Given the description of an element on the screen output the (x, y) to click on. 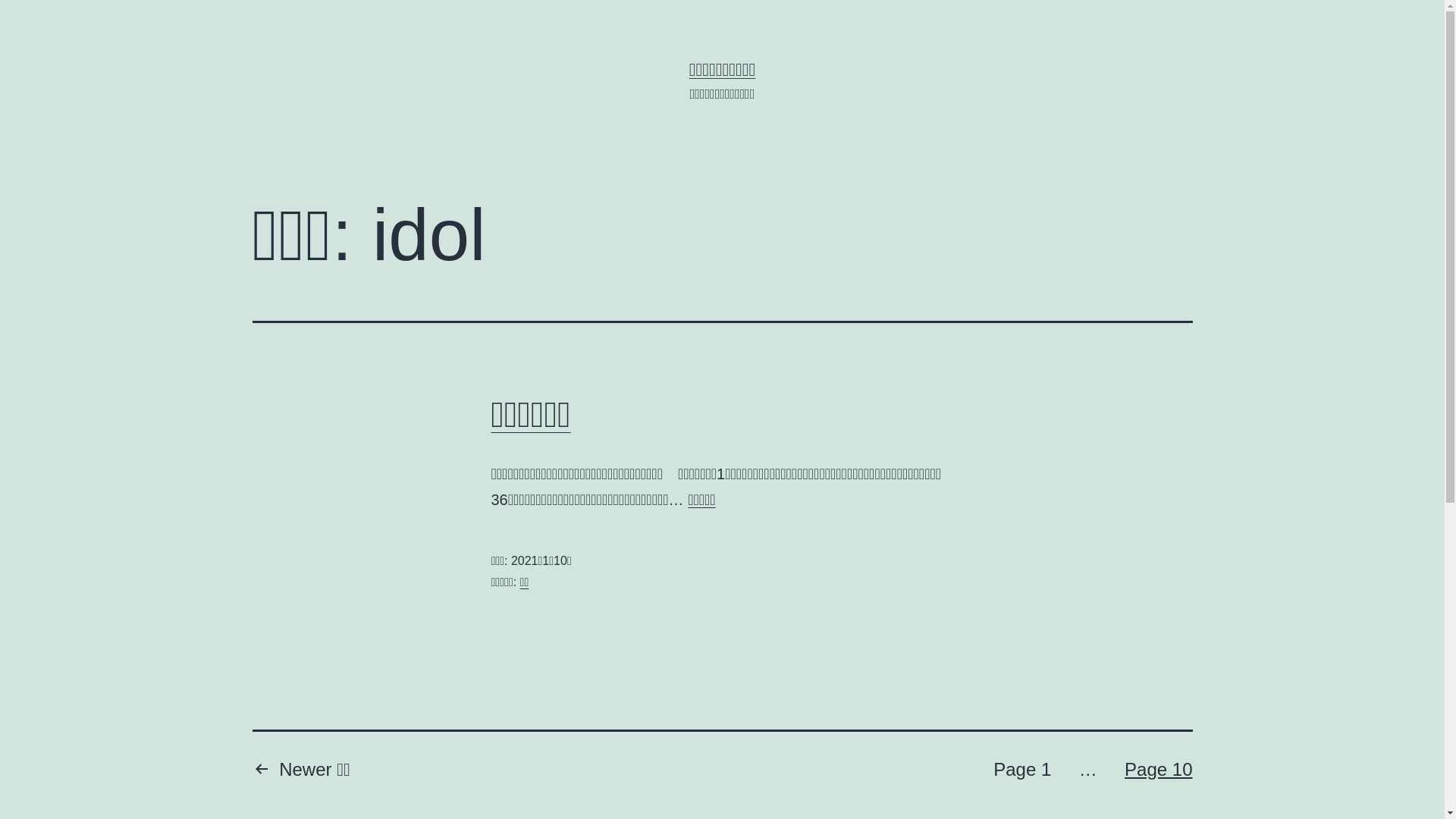
Page 1 Element type: text (1022, 770)
